Given the description of an element on the screen output the (x, y) to click on. 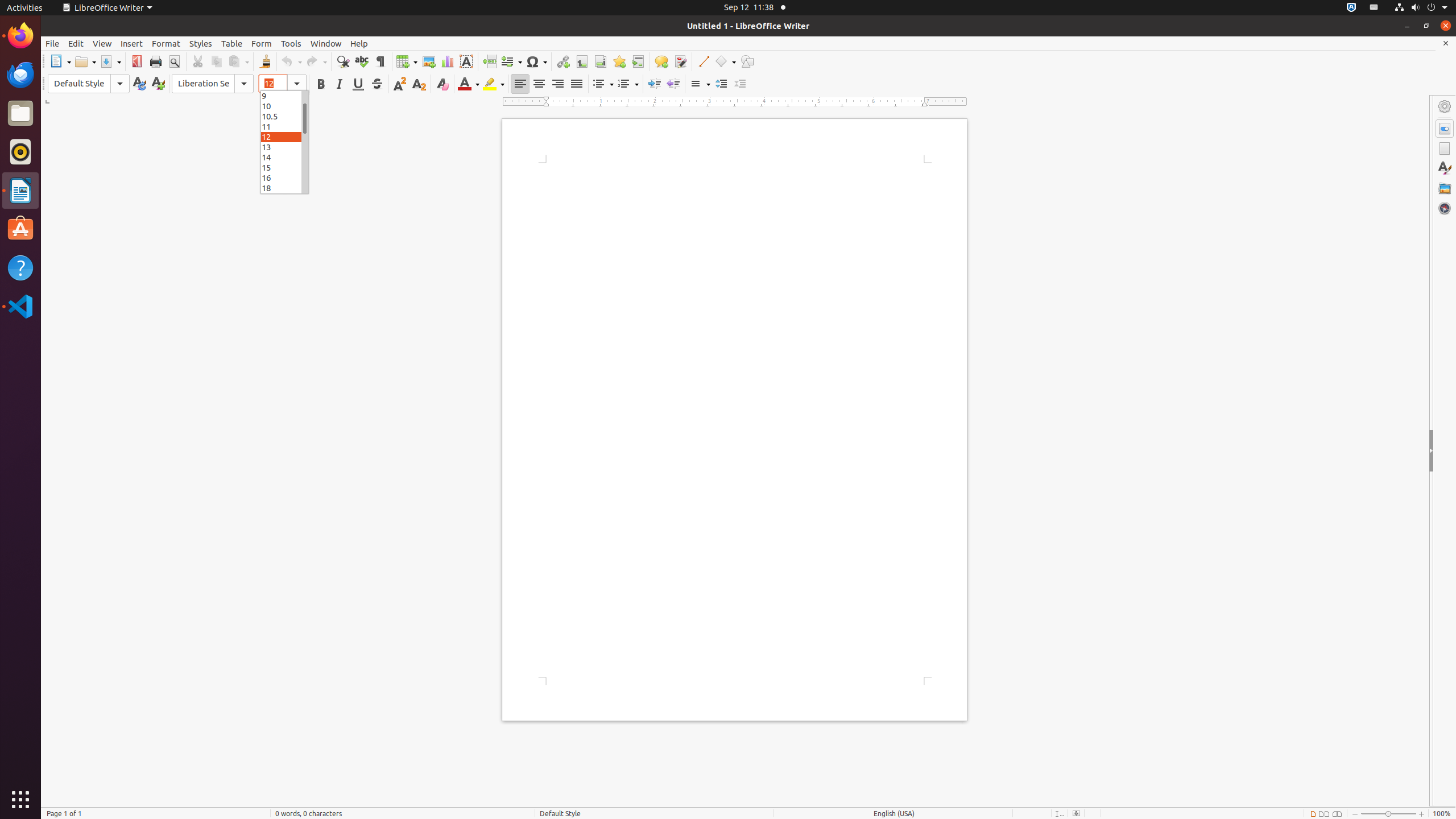
Footnote Element type: push-button (581, 61)
Save Element type: push-button (109, 61)
12 Element type: list-item (284, 136)
Styles Element type: radio-button (1444, 168)
Paragraph Style Element type: combo-box (88, 83)
